Given the description of an element on the screen output the (x, y) to click on. 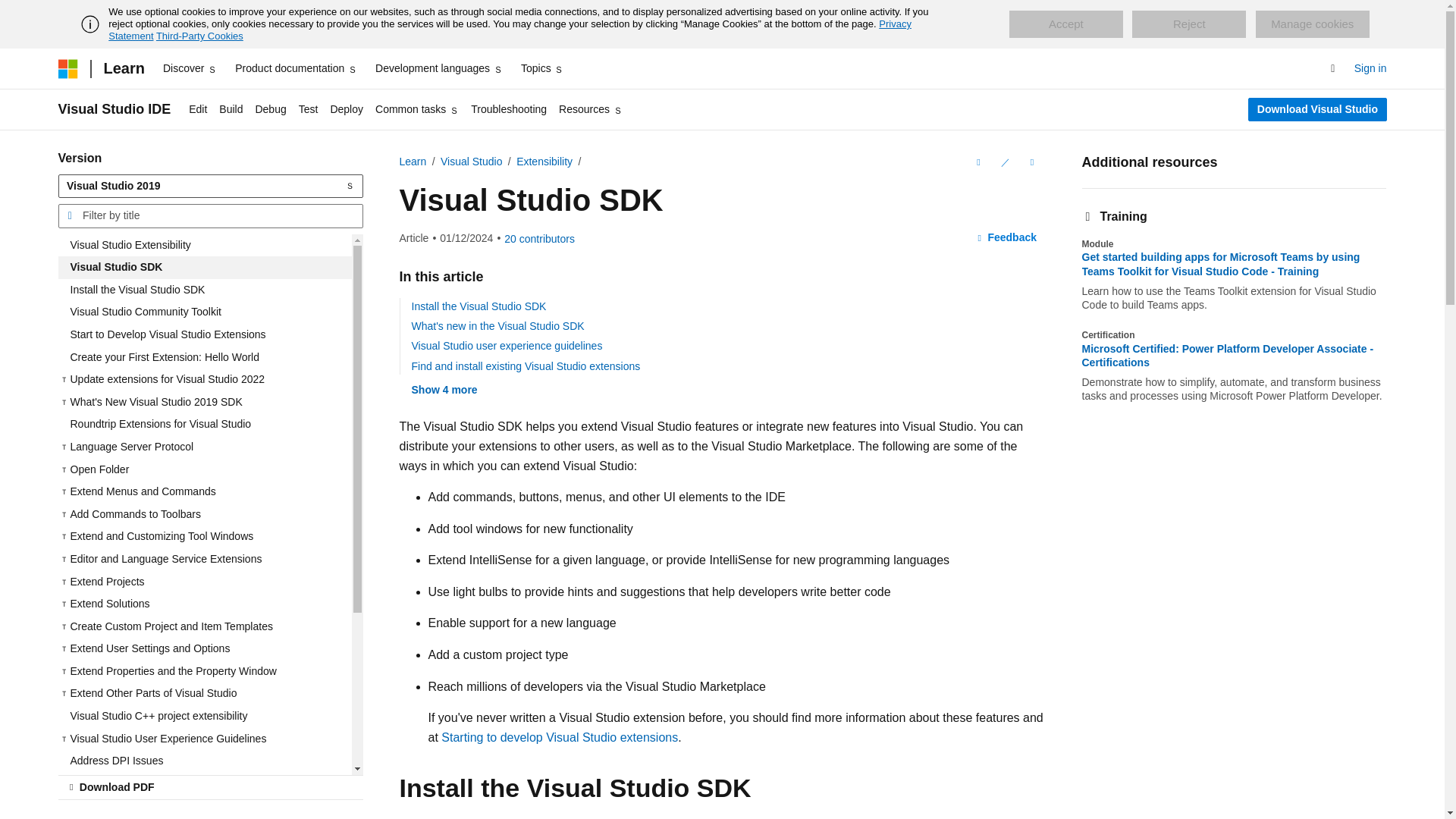
Deploy (346, 109)
Product documentation (295, 68)
Debug (270, 109)
Learn (123, 68)
Manage cookies (1312, 23)
Reject (1189, 23)
Visual Studio IDE (114, 109)
Topics (542, 68)
Sign in (1370, 68)
Development languages (438, 68)
